Given the description of an element on the screen output the (x, y) to click on. 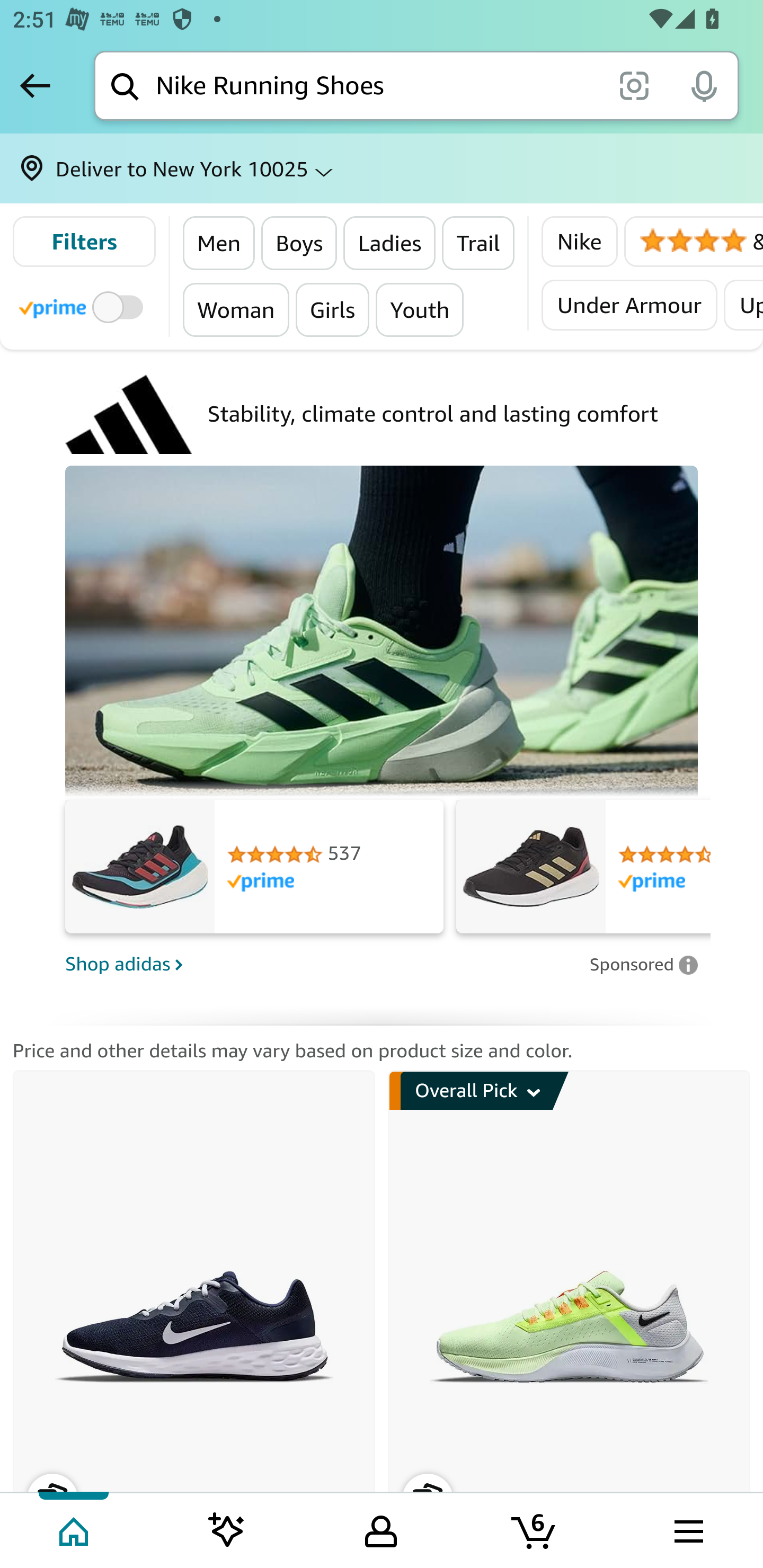
Back (35, 85)
scan it (633, 85)
Deliver to New York 10025 ⌵ (381, 168)
Filters (83, 241)
Men (219, 242)
Boys (299, 242)
Ladies (390, 242)
Trail (478, 242)
Nike (579, 241)
4 Stars & Up (693, 241)
Toggle to filter by Prime products Prime Eligible (83, 306)
Under Armour (629, 304)
Woman (236, 309)
Girls (331, 309)
Youth (419, 309)
Shop adidas Shop  adidas  (321, 963)
Leave feedback on Sponsored ad (643, 964)
Home Tab 1 of 5 (75, 1529)
Inspire feed Tab 2 of 5 (227, 1529)
Your Amazon.com Tab 3 of 5 (380, 1529)
Cart 6 items Tab 4 of 5 6 (534, 1529)
Browse menu Tab 5 of 5 (687, 1529)
